Given the description of an element on the screen output the (x, y) to click on. 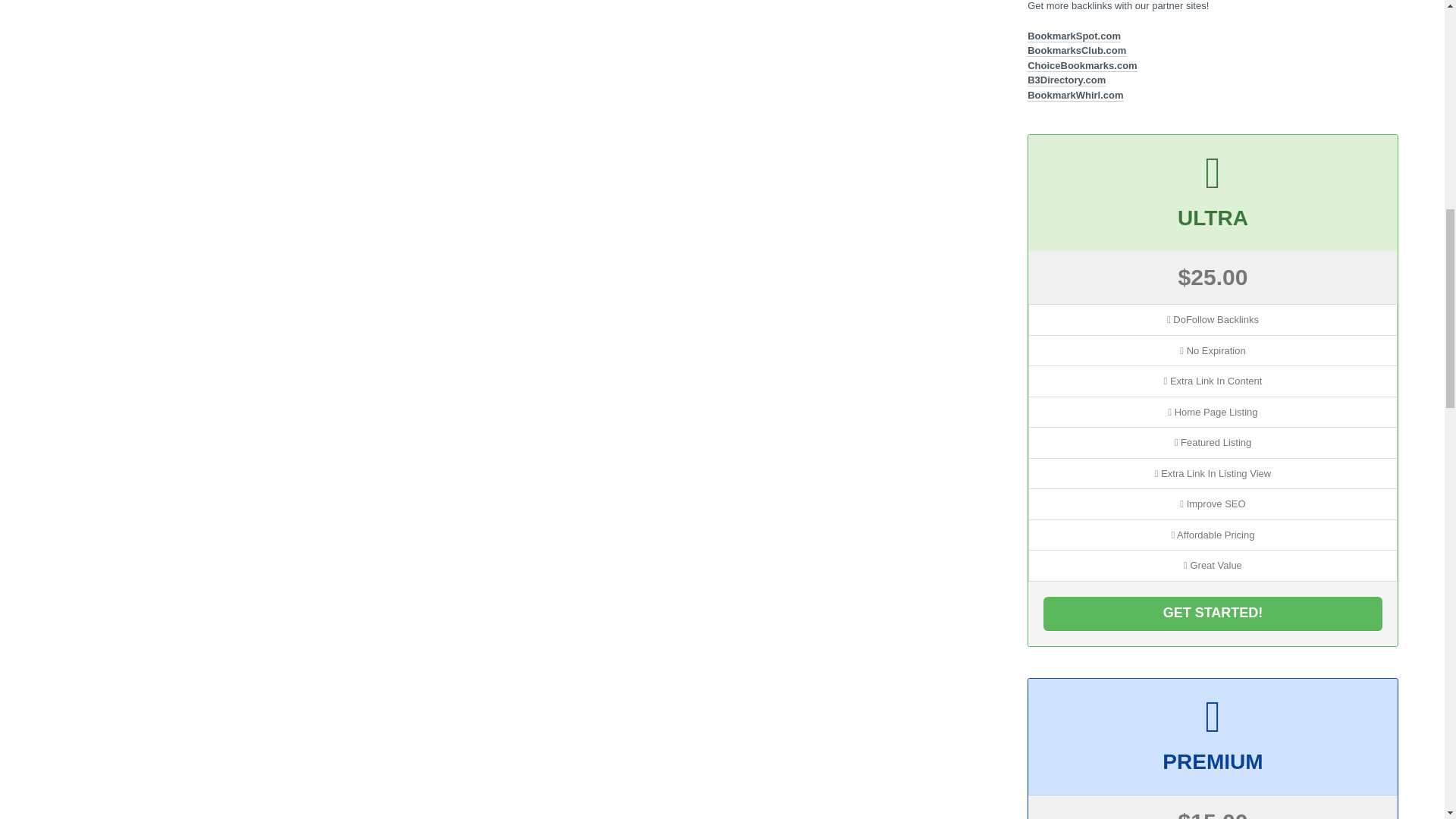
BookmarksClub.com (1076, 50)
GET STARTED! (1212, 613)
ChoiceBookmarks.com (1082, 65)
BookmarkWhirl.com (1074, 95)
BookmarkSpot.com (1074, 36)
B3Directory.com (1066, 80)
